Given the description of an element on the screen output the (x, y) to click on. 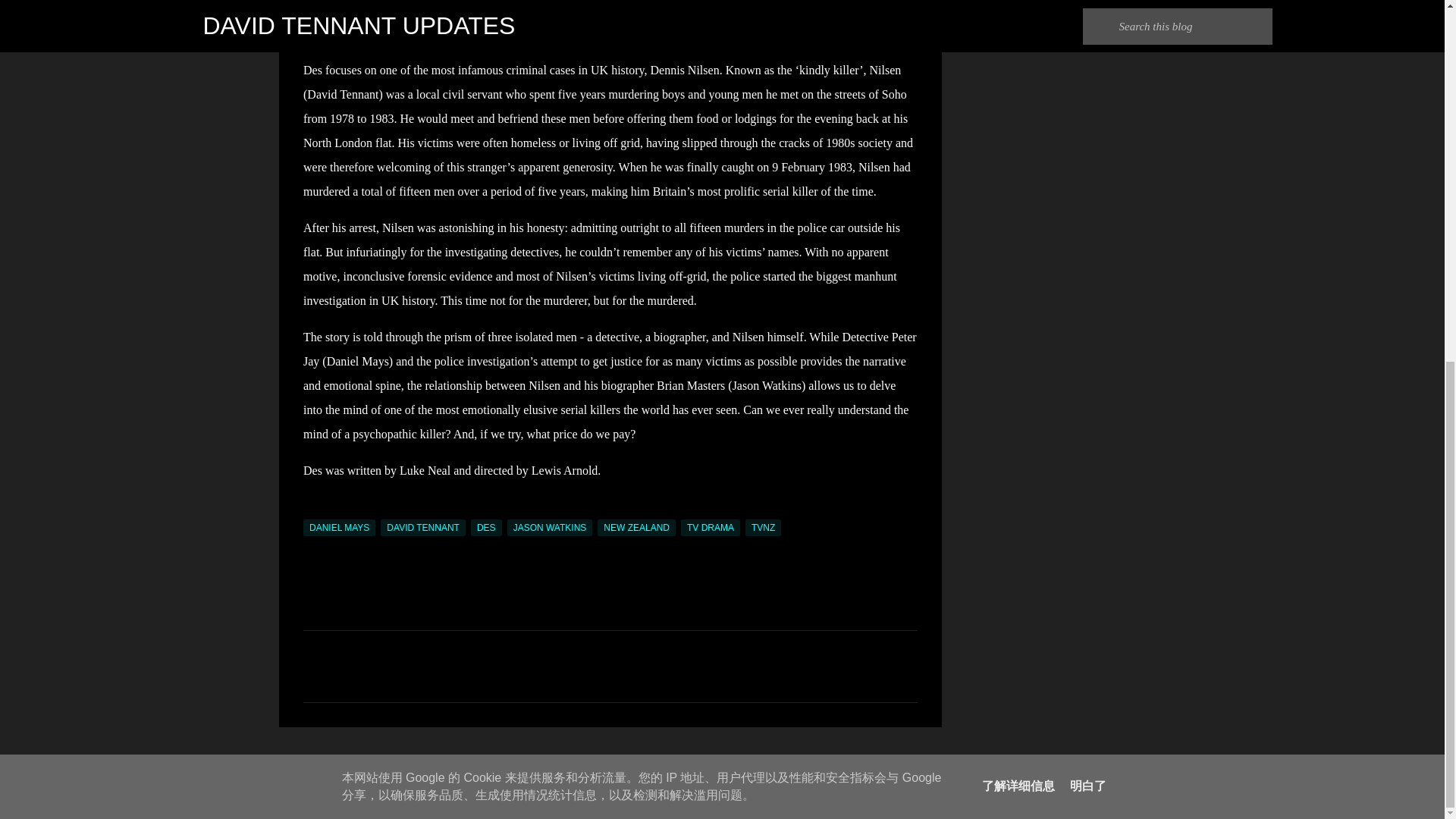
DANIEL MAYS (338, 527)
TVNZ (762, 527)
TV DRAMA (710, 527)
DAVID TENNANT (422, 527)
Email Post (311, 510)
Powered by Blogger (721, 766)
JASON WATKINS (549, 527)
DES (486, 527)
NEW ZEALAND (635, 527)
